Given the description of an element on the screen output the (x, y) to click on. 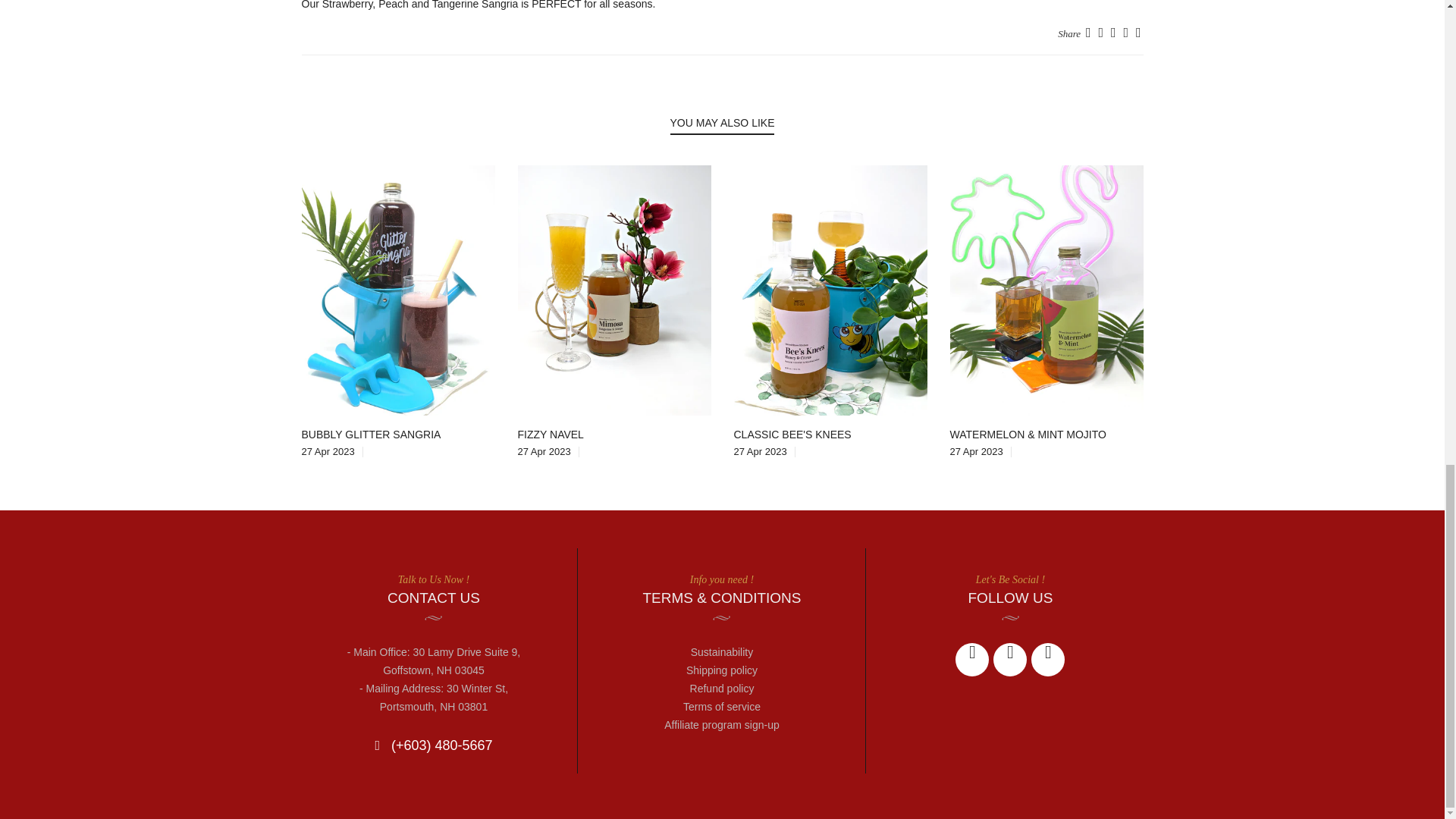
Wood Stove Kitchen on Youtube (1047, 659)
FIZZY NAVEL (549, 434)
CLASSIC BEE'S KNEES (792, 434)
BUBBLY GLITTER SANGRIA (371, 434)
Wood Stove Kitchen on Facebook (971, 659)
Wood Stove Kitchen on Instagram (1009, 659)
